Given the description of an element on the screen output the (x, y) to click on. 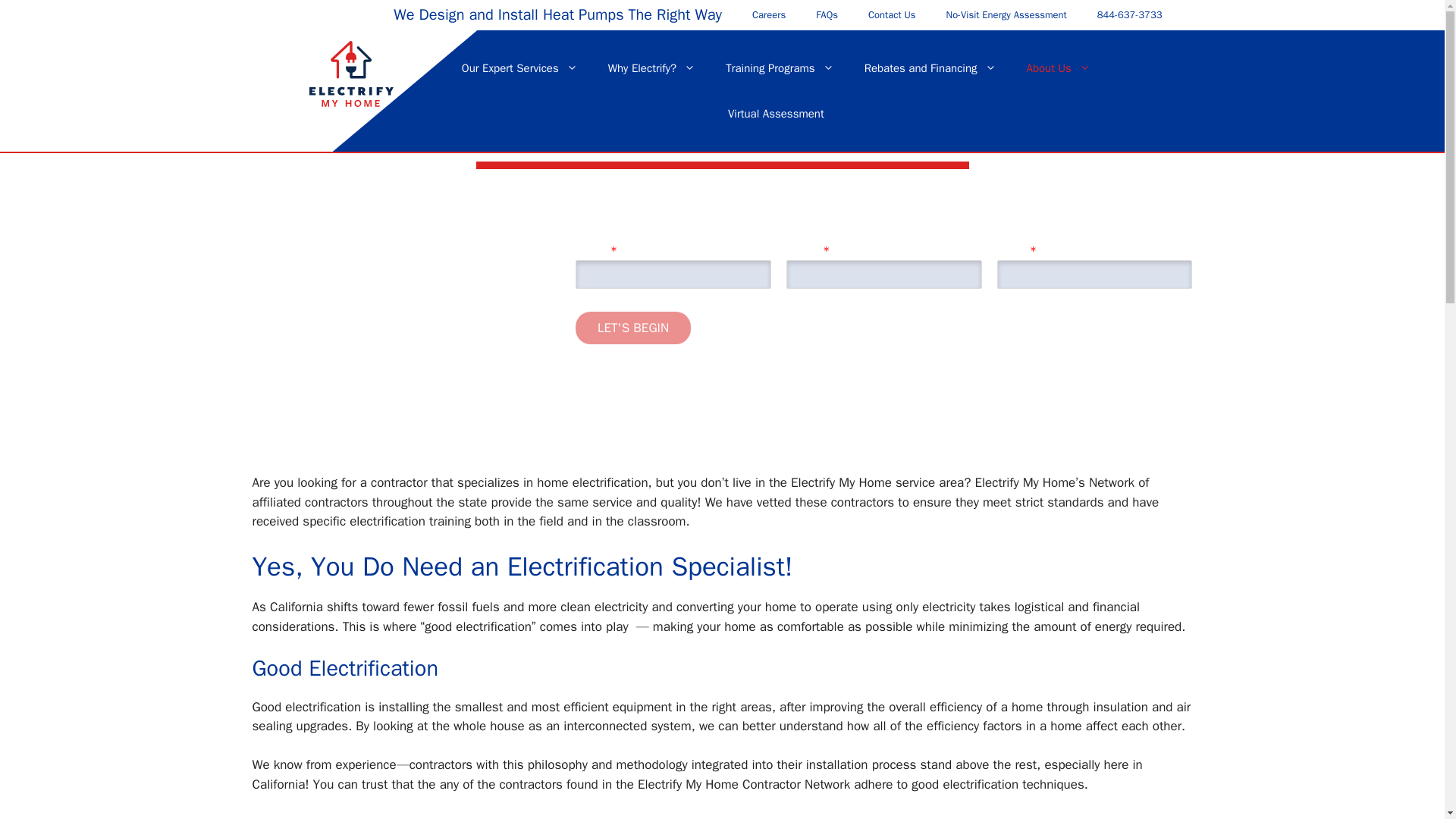
Why Electrify? (651, 67)
Our Expert Services (519, 67)
Training Programs (779, 67)
About Us (1058, 67)
Rebates and Financing (929, 67)
Virtual Assessment (776, 113)
No-Visit Energy Assessment (1006, 15)
Careers (768, 15)
Contact Us (892, 15)
FAQs (826, 15)
